Given the description of an element on the screen output the (x, y) to click on. 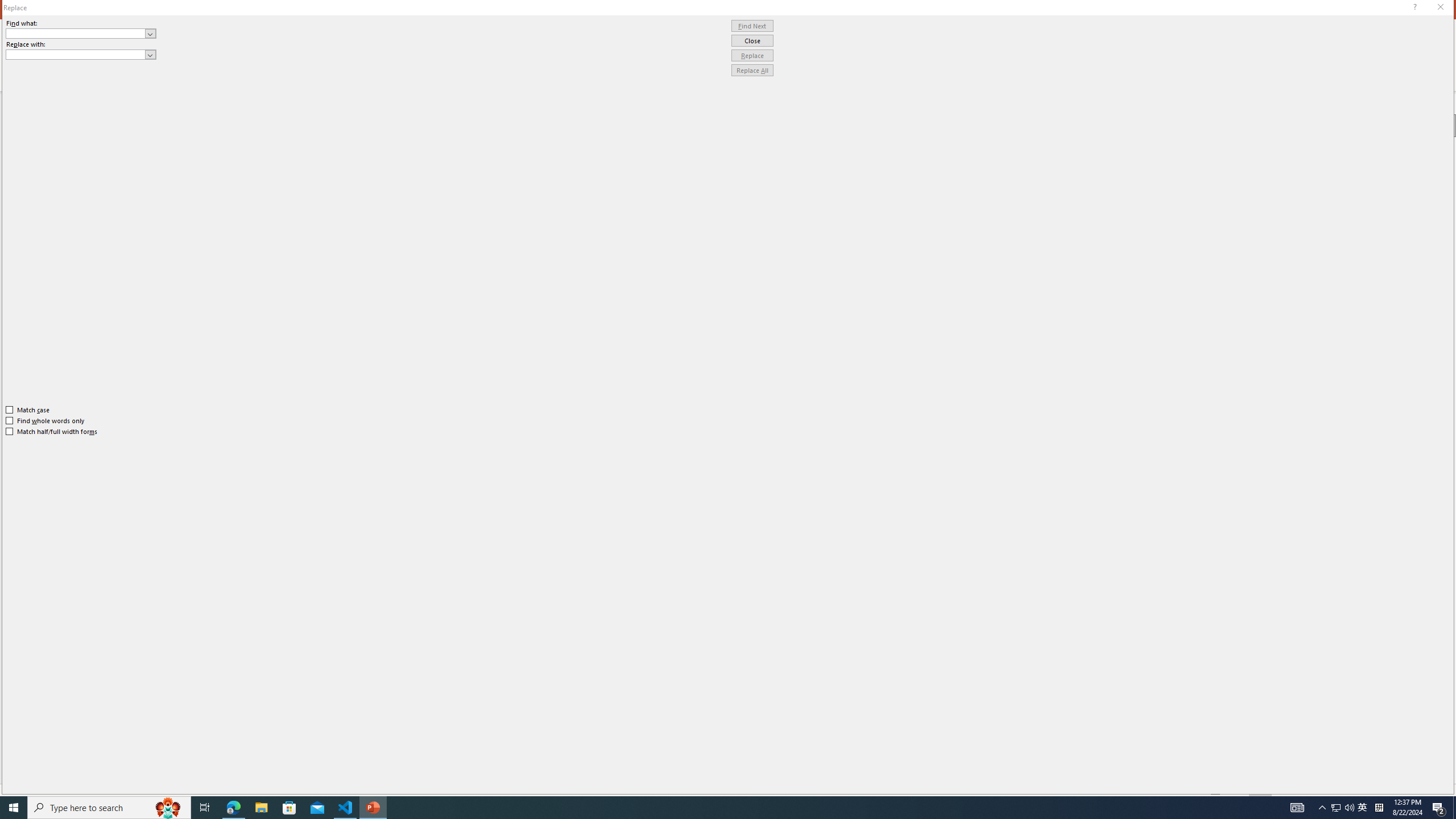
Picture or texture fill (1328, 195)
Replace with (80, 54)
Transparency (1393, 260)
Apply to All (1301, 766)
